Given the description of an element on the screen output the (x, y) to click on. 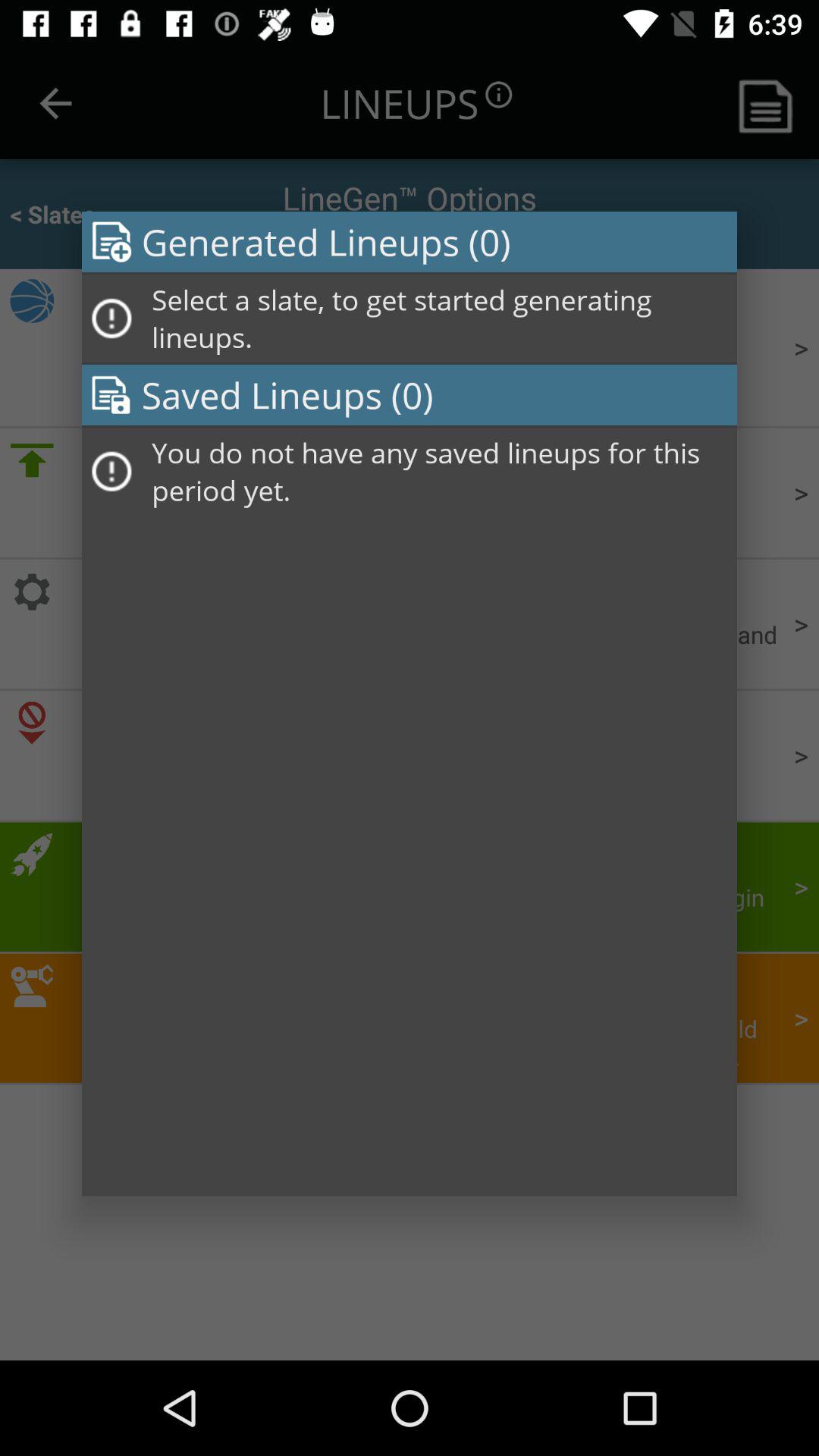
choose the select a slate item (438, 318)
